Given the description of an element on the screen output the (x, y) to click on. 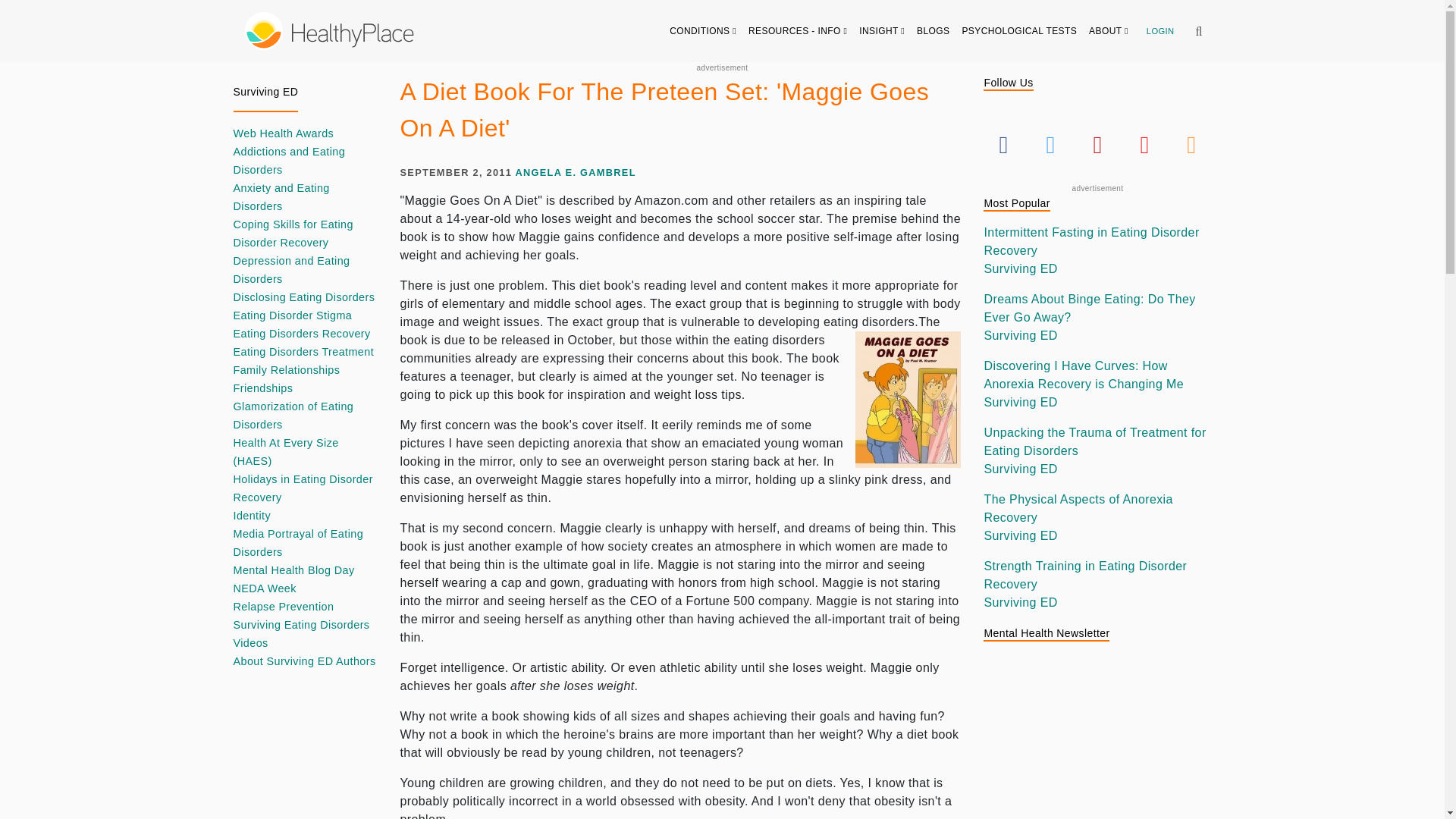
INSIGHT (882, 31)
CONDITIONS (702, 31)
RESOURCES - INFO (797, 31)
